Given the description of an element on the screen output the (x, y) to click on. 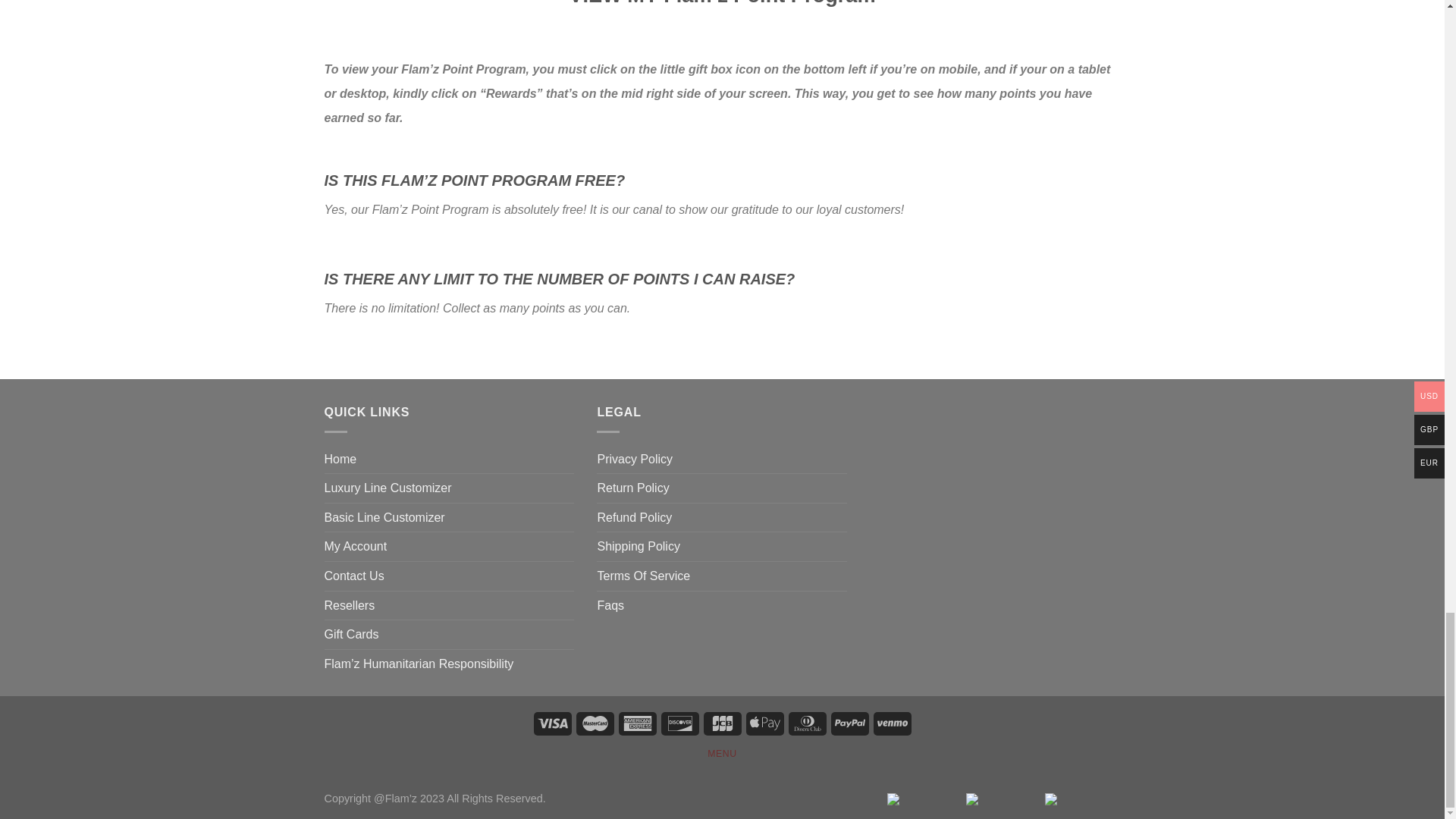
Gift Cards (351, 634)
Basic Line Customizer (384, 517)
Return Policy (632, 488)
Privacy Policy (634, 459)
My Account (355, 546)
Faqs (610, 605)
Luxury Line Customizer (387, 488)
Contact Us (354, 575)
Resellers (349, 605)
Shipping Policy (637, 546)
